Given the description of an element on the screen output the (x, y) to click on. 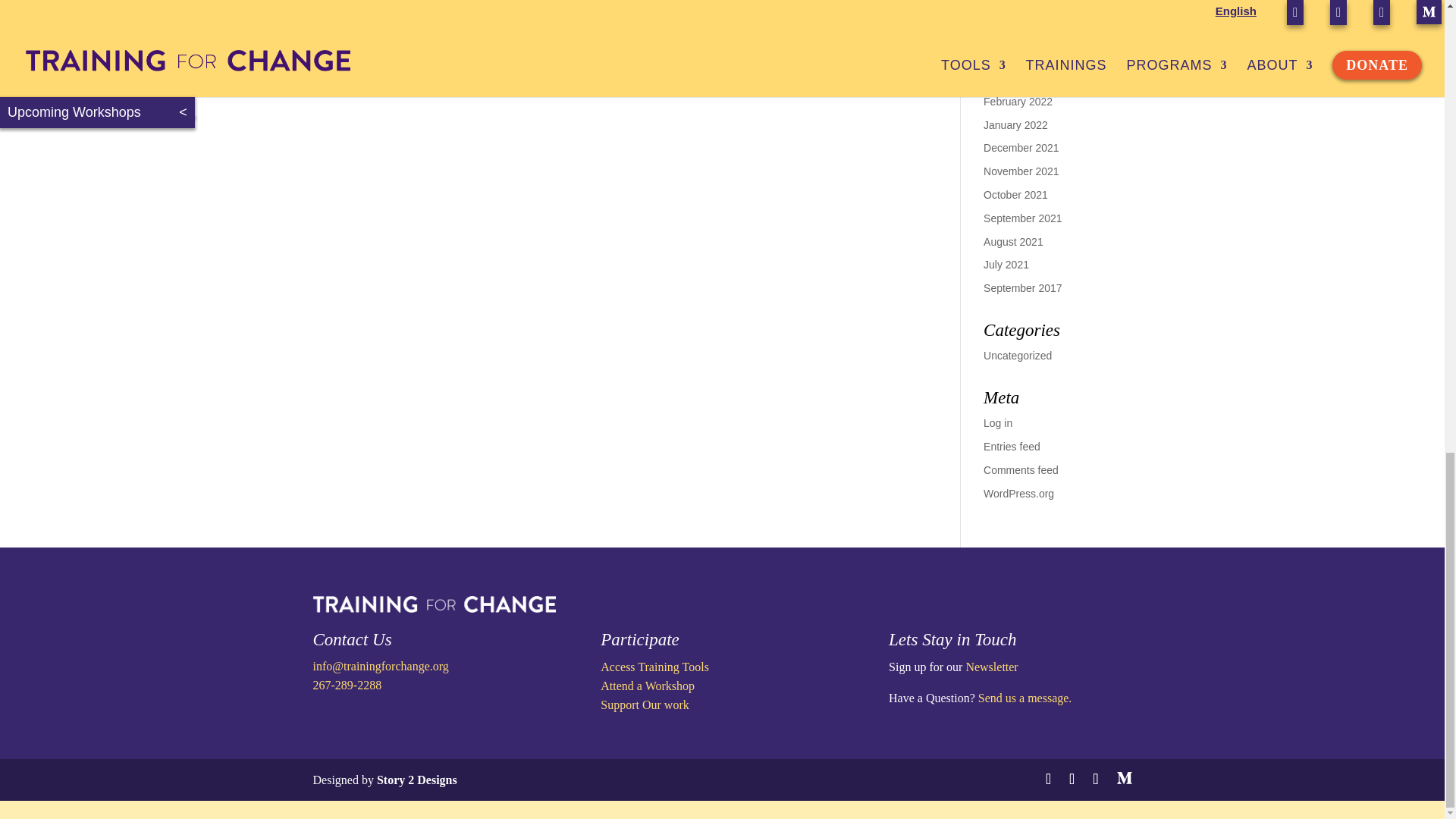
Story 2 Designs (417, 779)
